Given the description of an element on the screen output the (x, y) to click on. 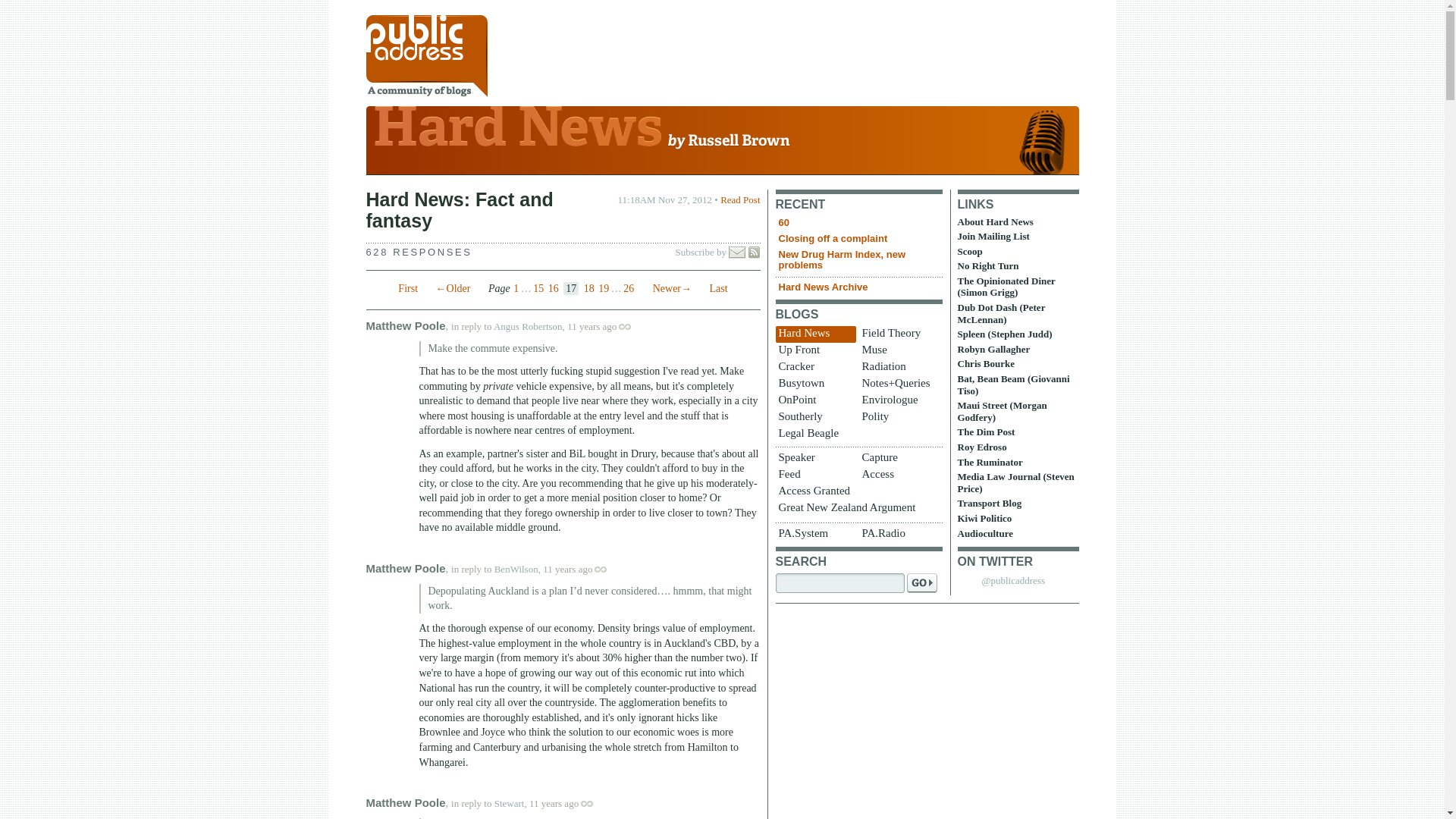
11:16 Dec 2, 2012 (591, 326)
Public Address, a community of blogs (425, 56)
Read Post (740, 199)
Stewart, (511, 803)
11:31 Dec 2, 2012 (553, 803)
RSS (754, 252)
Matthew Poole (405, 325)
First (407, 288)
16 (553, 287)
18 (588, 287)
